Given the description of an element on the screen output the (x, y) to click on. 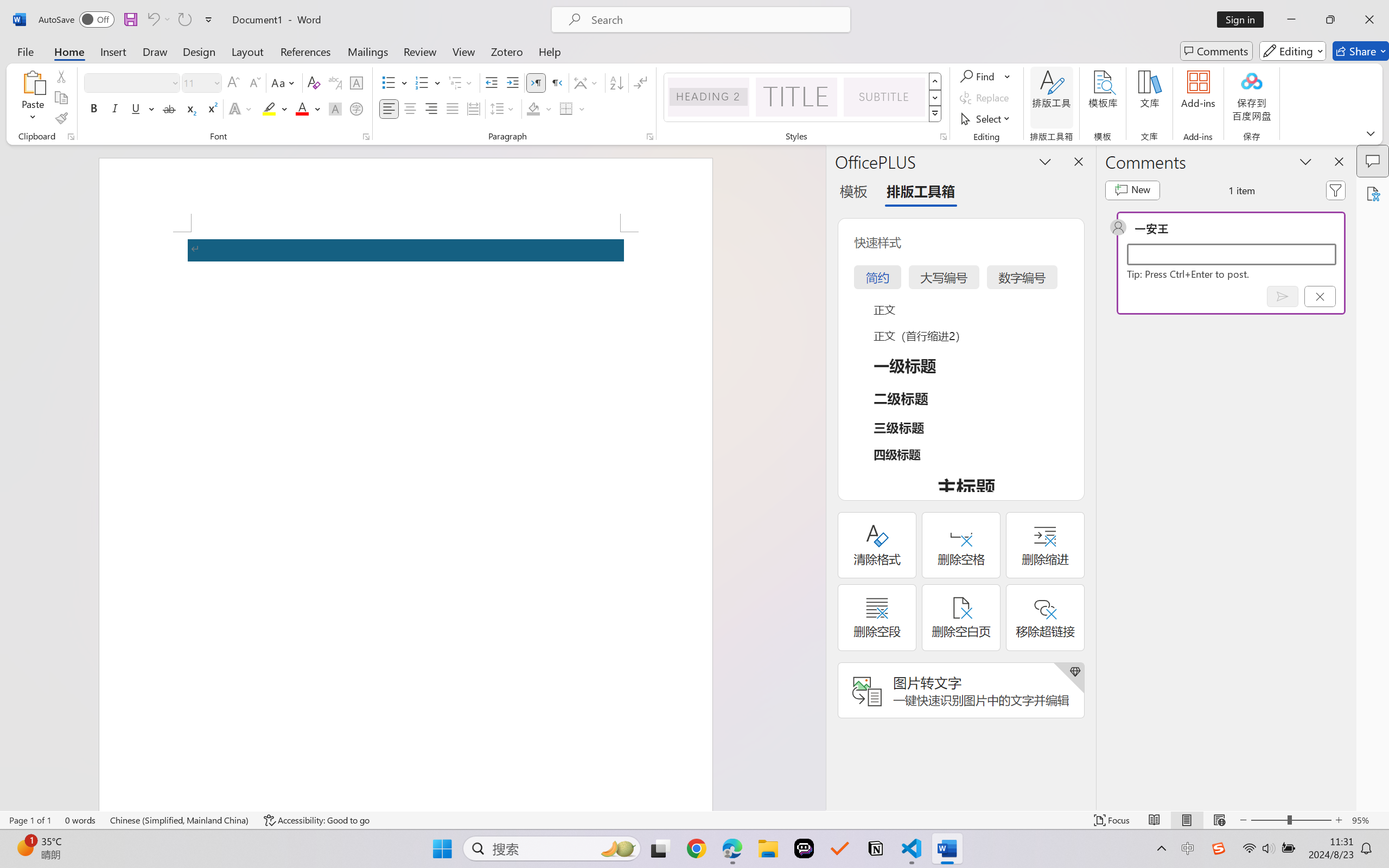
Left-to-Right (535, 82)
Repeat Accessibility Checker (184, 19)
Undo Apply Quick Style Set (158, 19)
